Given the description of an element on the screen output the (x, y) to click on. 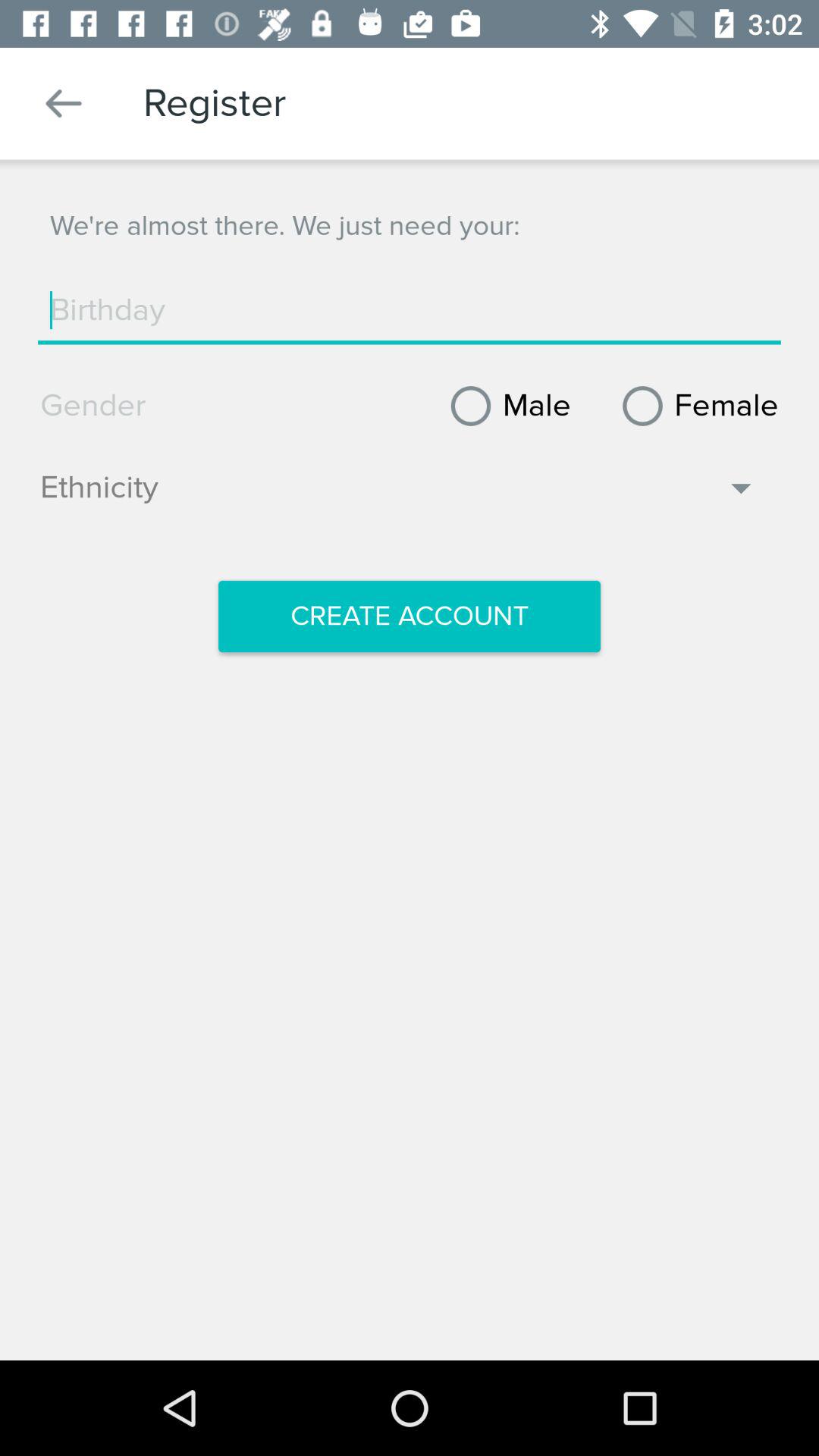
open male icon (505, 405)
